Given the description of an element on the screen output the (x, y) to click on. 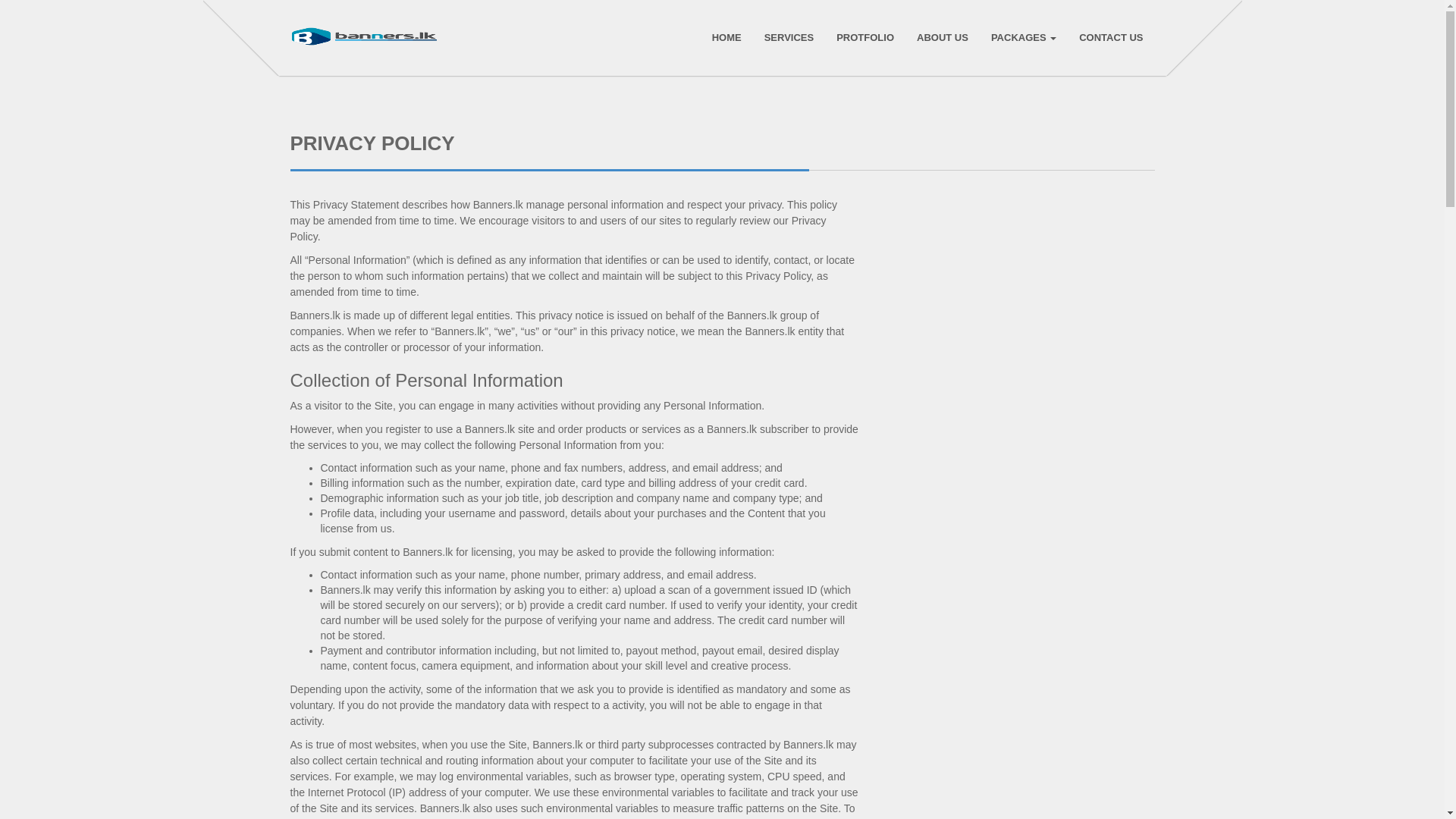
Services (789, 38)
Packages (1023, 38)
HOME (727, 38)
PACKAGES (1023, 38)
HOME (727, 38)
CONTACT US (1110, 38)
PROTFOLIO (864, 38)
About Us (941, 38)
Contact Us (1110, 38)
Protfolio (864, 38)
